Given the description of an element on the screen output the (x, y) to click on. 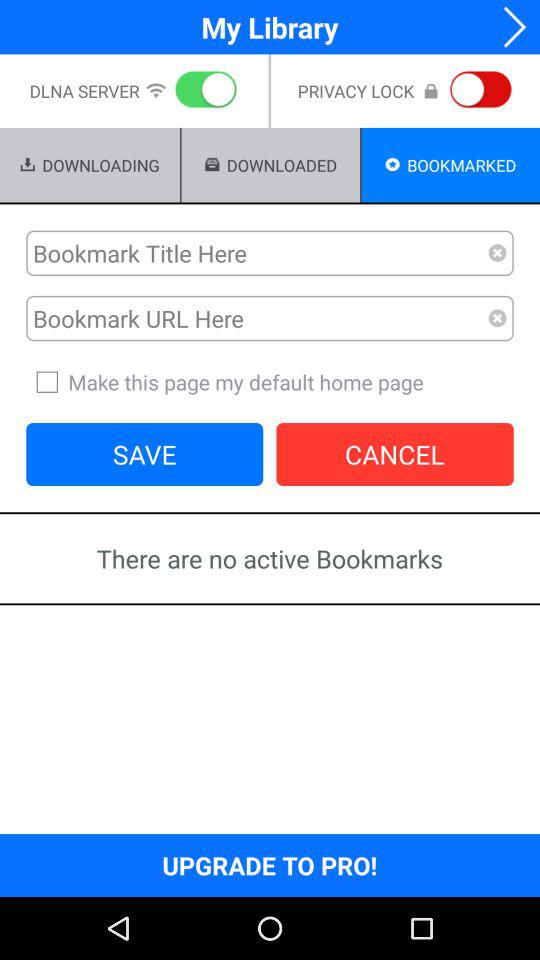
select the icon above make this page (497, 318)
